Given the description of an element on the screen output the (x, y) to click on. 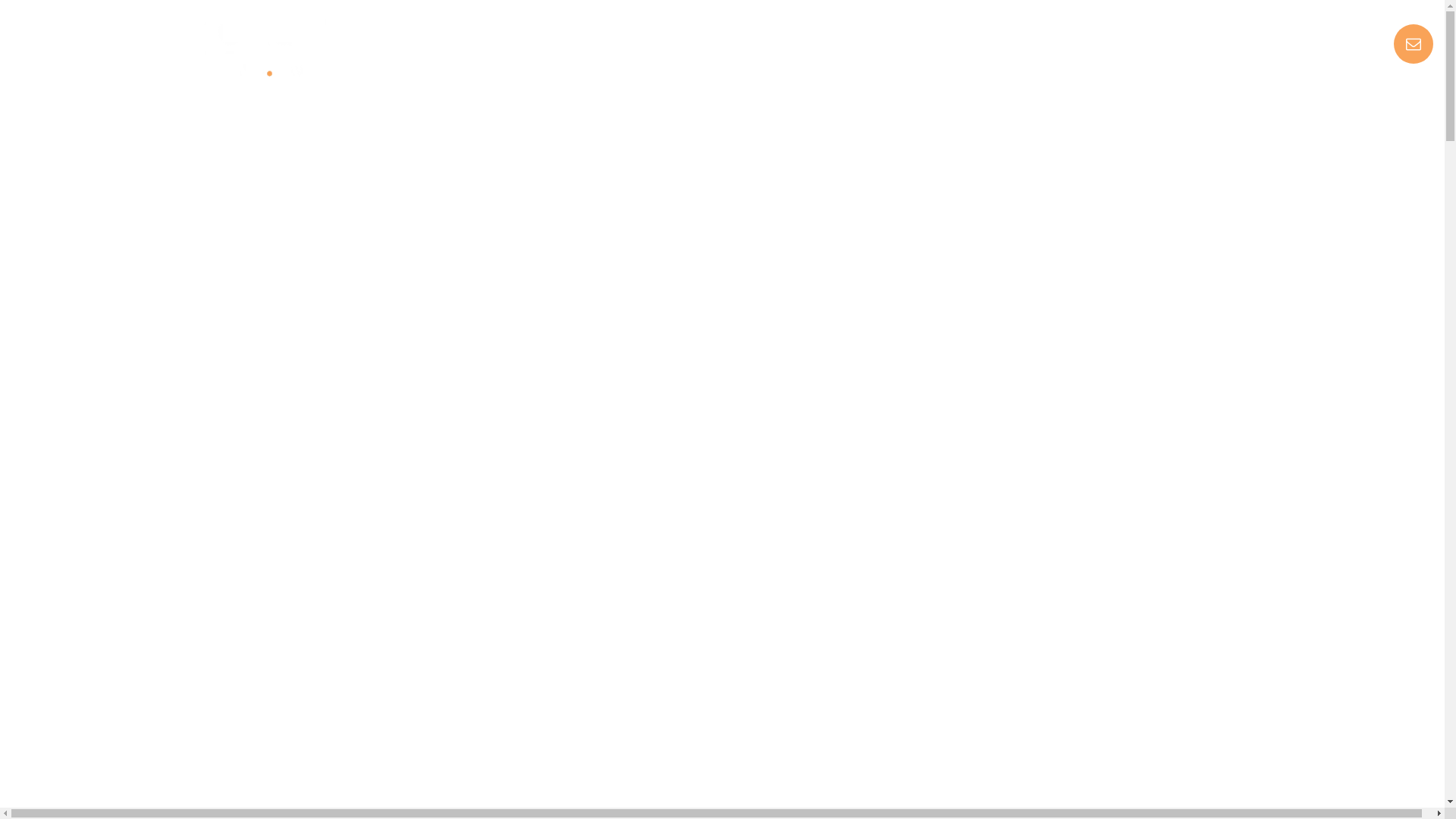
Our Insights Element type: text (1004, 44)
(07) 3221 2221 Element type: text (1198, 44)
Our Services Element type: text (678, 44)
Who We Are Element type: text (901, 44)
Contact Element type: text (1097, 44)
Our Difference Element type: text (789, 44)
